Given the description of an element on the screen output the (x, y) to click on. 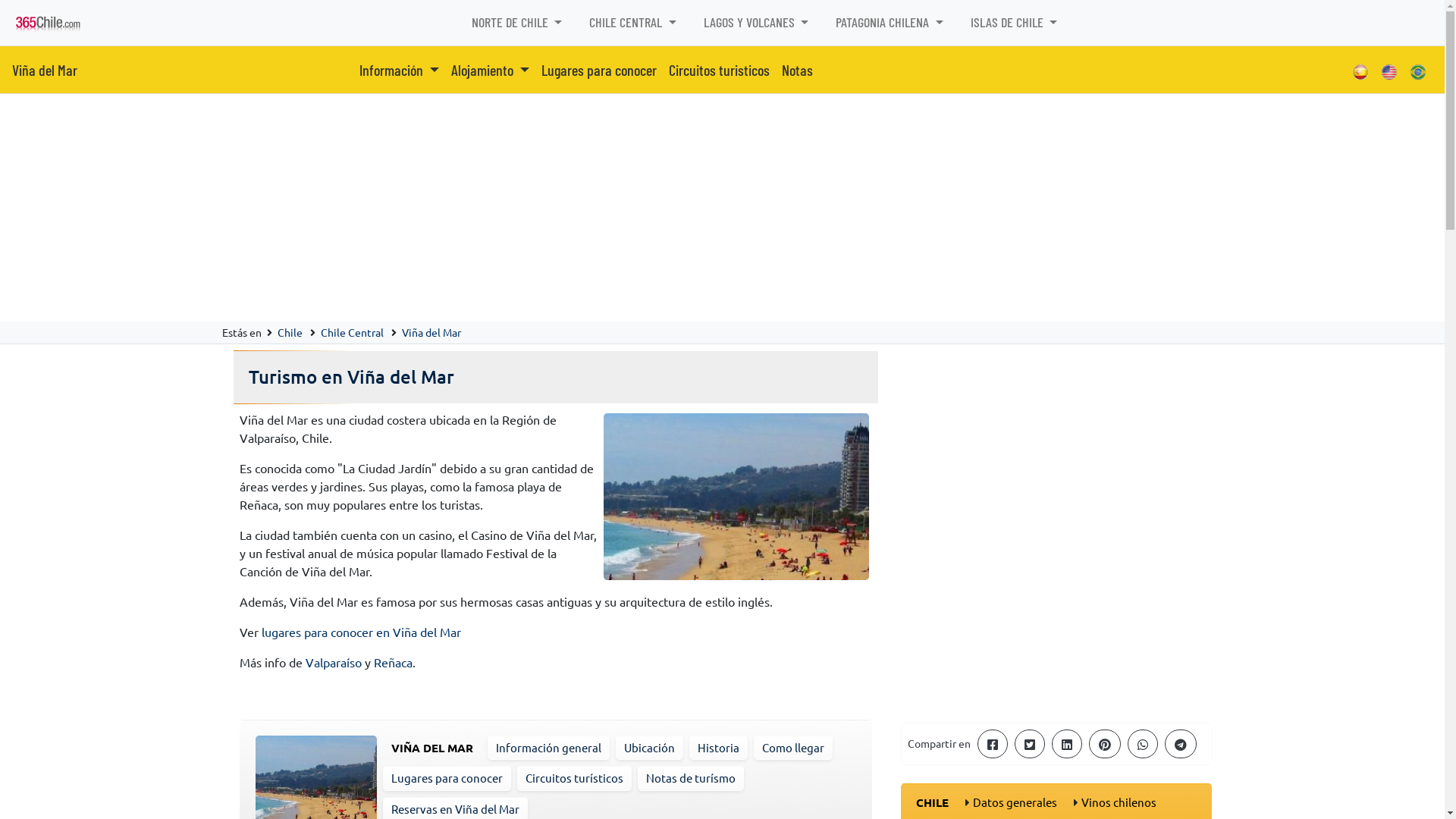
Datos generales Element type: text (1014, 801)
Lugares para conocer Element type: text (446, 777)
NORTE DE CHILE Element type: text (516, 22)
Como llegar Element type: text (792, 747)
Advertisement Element type: hover (1055, 604)
CHILE CENTRAL Element type: text (632, 22)
Advertisement Element type: hover (721, 207)
Notas Element type: text (797, 69)
Historia Element type: text (718, 747)
Chile Central Element type: text (351, 331)
Chile Element type: text (289, 331)
CHILE Element type: text (932, 801)
LAGOS Y VOLCANES Element type: text (756, 22)
Vinos chilenos Element type: text (1118, 801)
PATAGONIA CHILENA Element type: text (889, 22)
ISLAS DE CHILE Element type: text (1013, 22)
Alojamiento Element type: text (490, 69)
Lugares para conocer Element type: text (598, 69)
Circuitos turisticos Element type: text (718, 69)
